Given the description of an element on the screen output the (x, y) to click on. 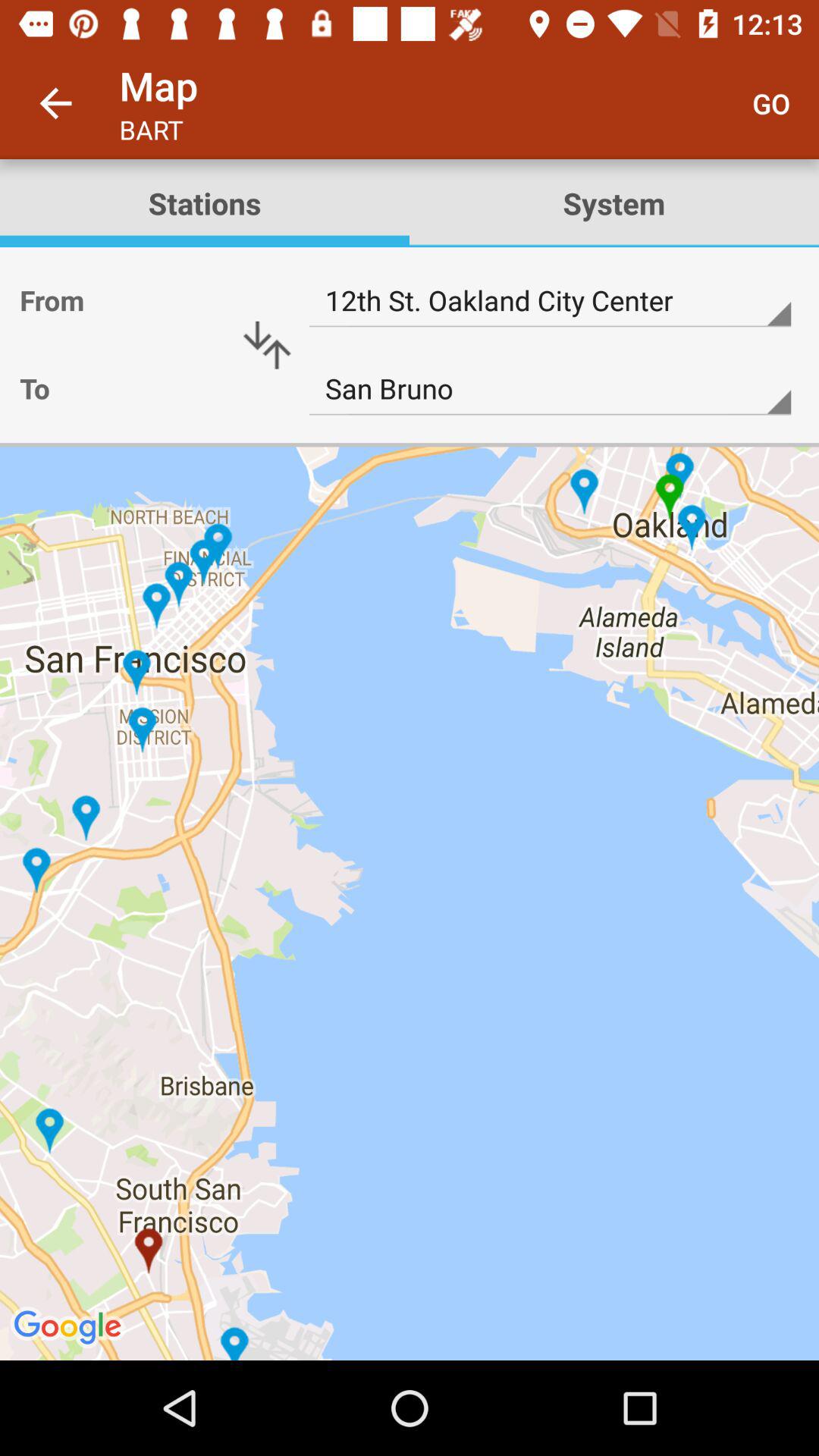
tap icon below 12th st oakland item (550, 389)
